Given the description of an element on the screen output the (x, y) to click on. 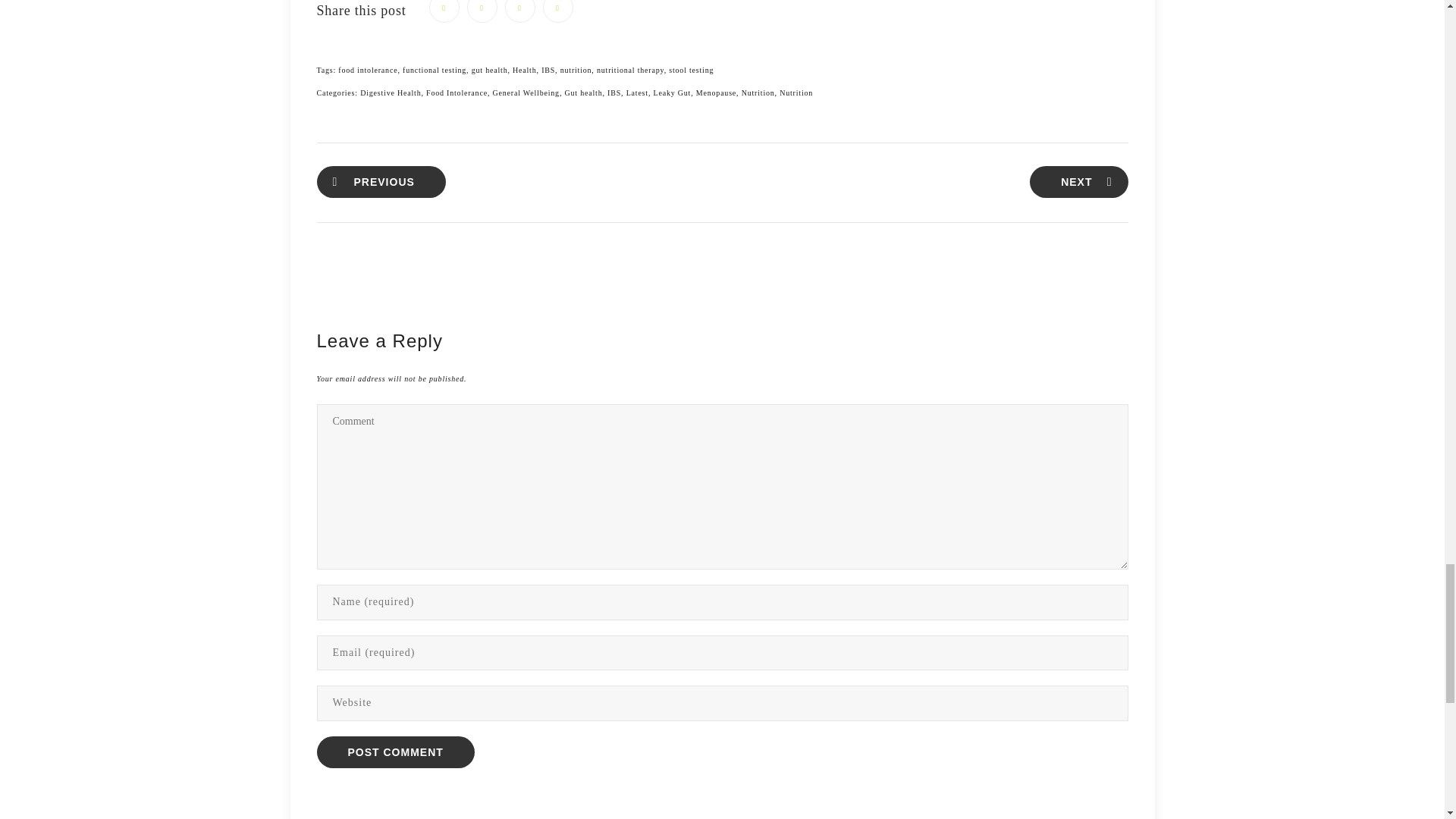
The Dark Side Of The Low FODMAP Diet (1077, 182)
Post Comment (395, 752)
Can Chia Seed Water Help You Lose Weight? (381, 182)
food intolerance (367, 70)
functional testing (434, 70)
